Given the description of an element on the screen output the (x, y) to click on. 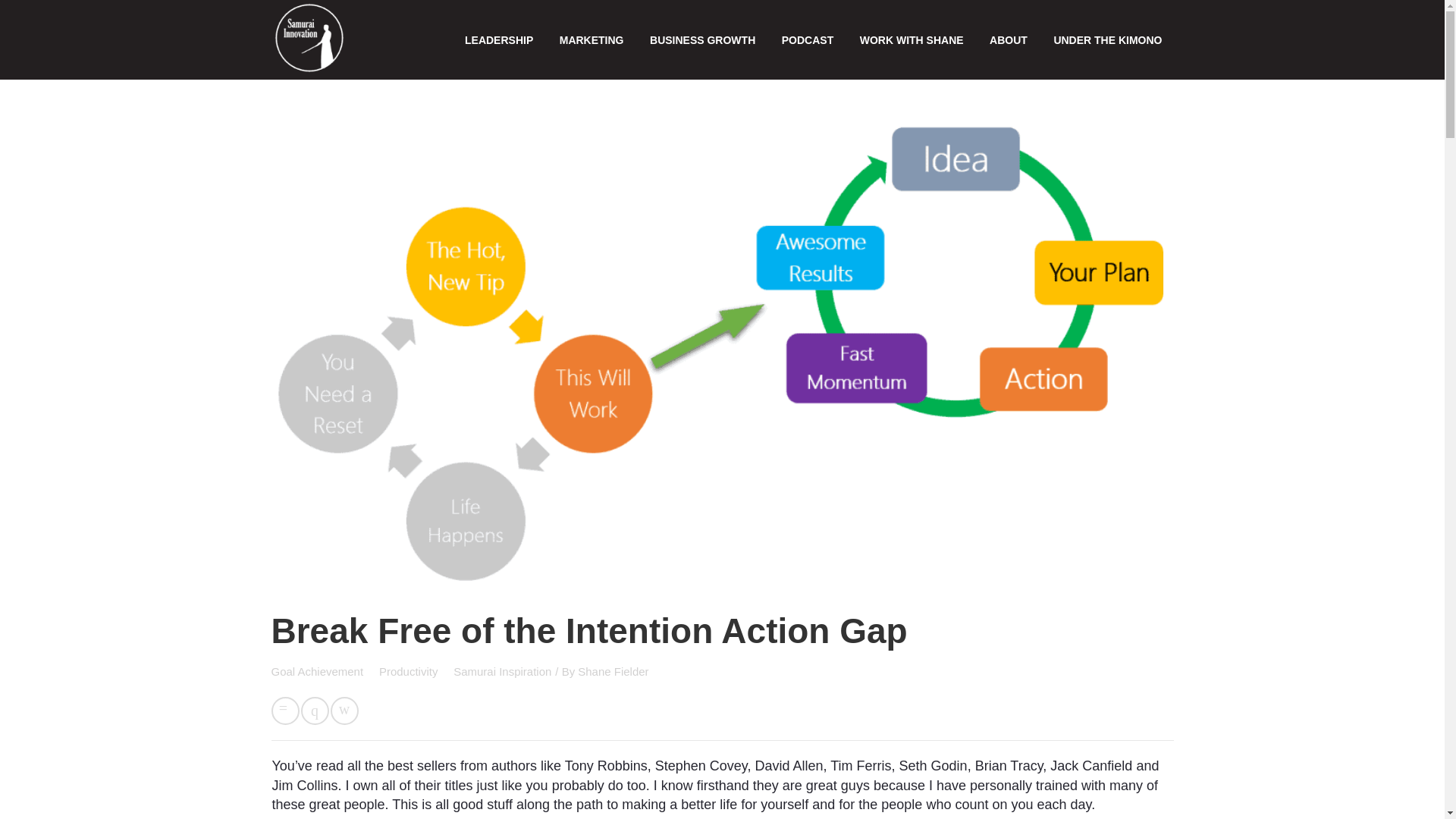
BUSINESS GROWTH (702, 39)
PODCAST (806, 39)
Shane Fielder (612, 671)
Goal Achievement (318, 671)
ABOUT (1008, 39)
Samurai Inspiration (501, 671)
MARKETING (591, 39)
LEADERSHIP (498, 39)
Productivity (409, 671)
WORK WITH SHANE (911, 39)
